Given the description of an element on the screen output the (x, y) to click on. 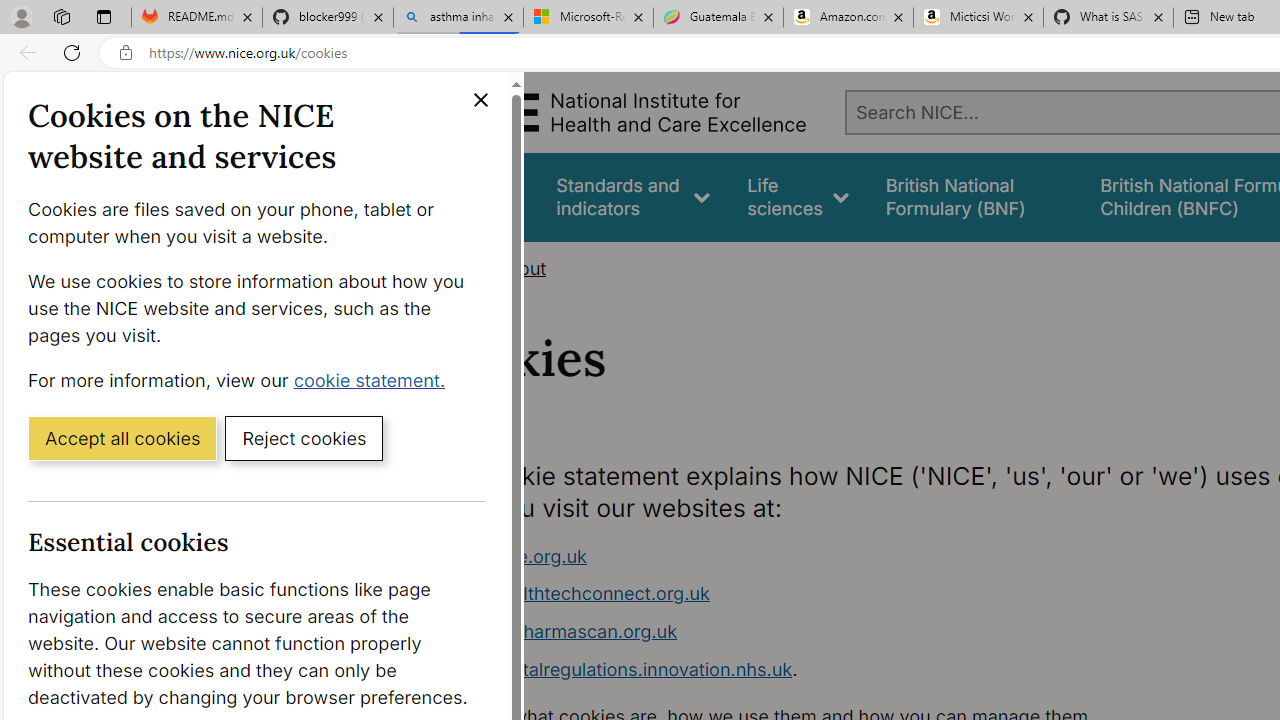
www.healthtechconnect.org.uk (818, 594)
www.ukpharmascan.org.uk (818, 632)
www.digitalregulations.innovation.nhs.uk. (818, 669)
www.healthtechconnect.org.uk (576, 593)
Accept all cookies (122, 437)
Guidance (479, 196)
Reject cookies (304, 437)
Life sciences (798, 196)
About (520, 268)
